Given the description of an element on the screen output the (x, y) to click on. 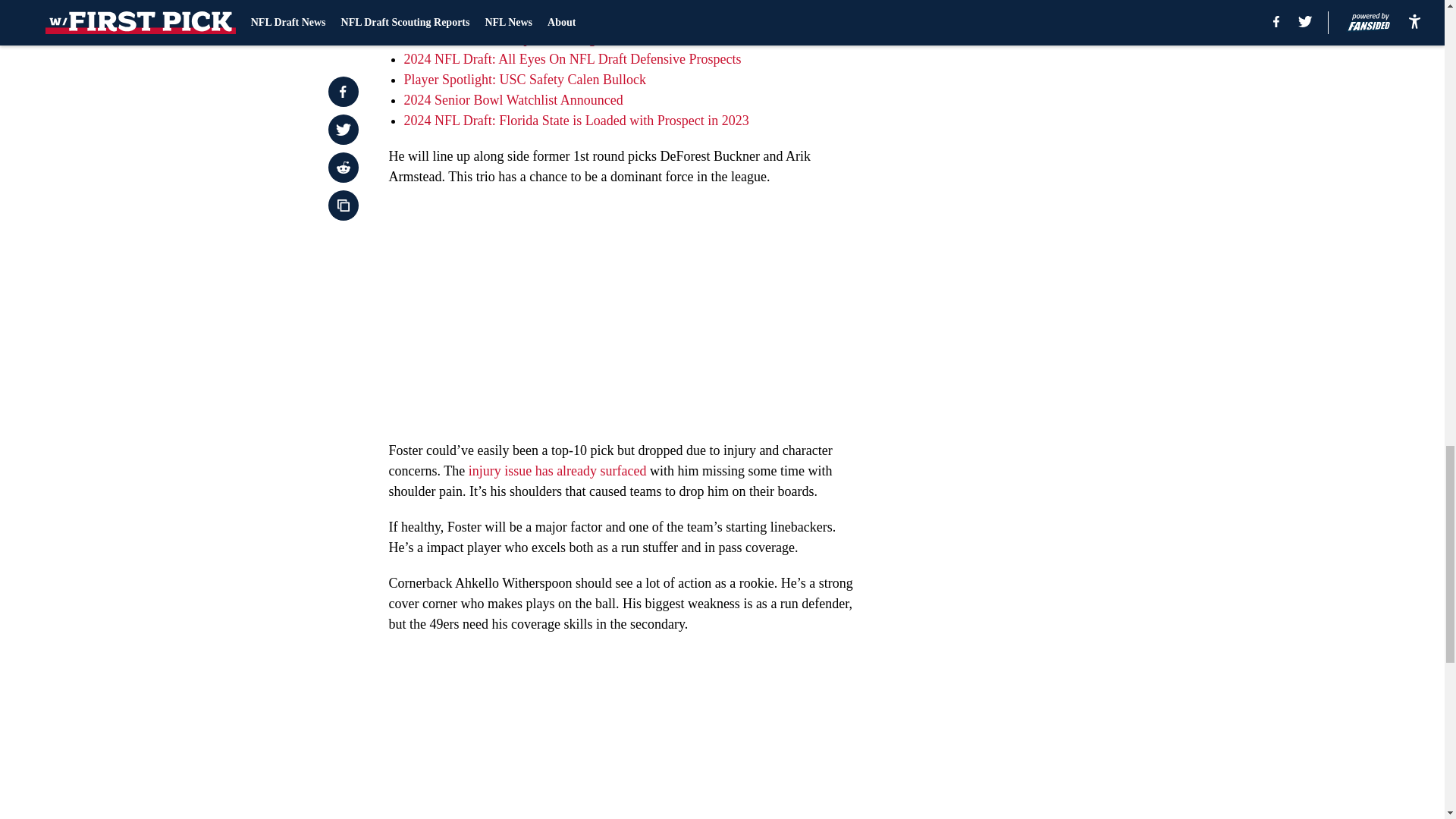
Player Spotlight: USC Safety Calen Bullock (524, 79)
injury issue has already surfaced (557, 470)
2024 NFL Draft: Prospect Viewing Guide for Week 0 (549, 38)
2024 Senior Bowl Watchlist Announced (513, 99)
2024 NFL Draft: All Eyes On NFL Draft Defensive Prospects (572, 58)
